Given the description of an element on the screen output the (x, y) to click on. 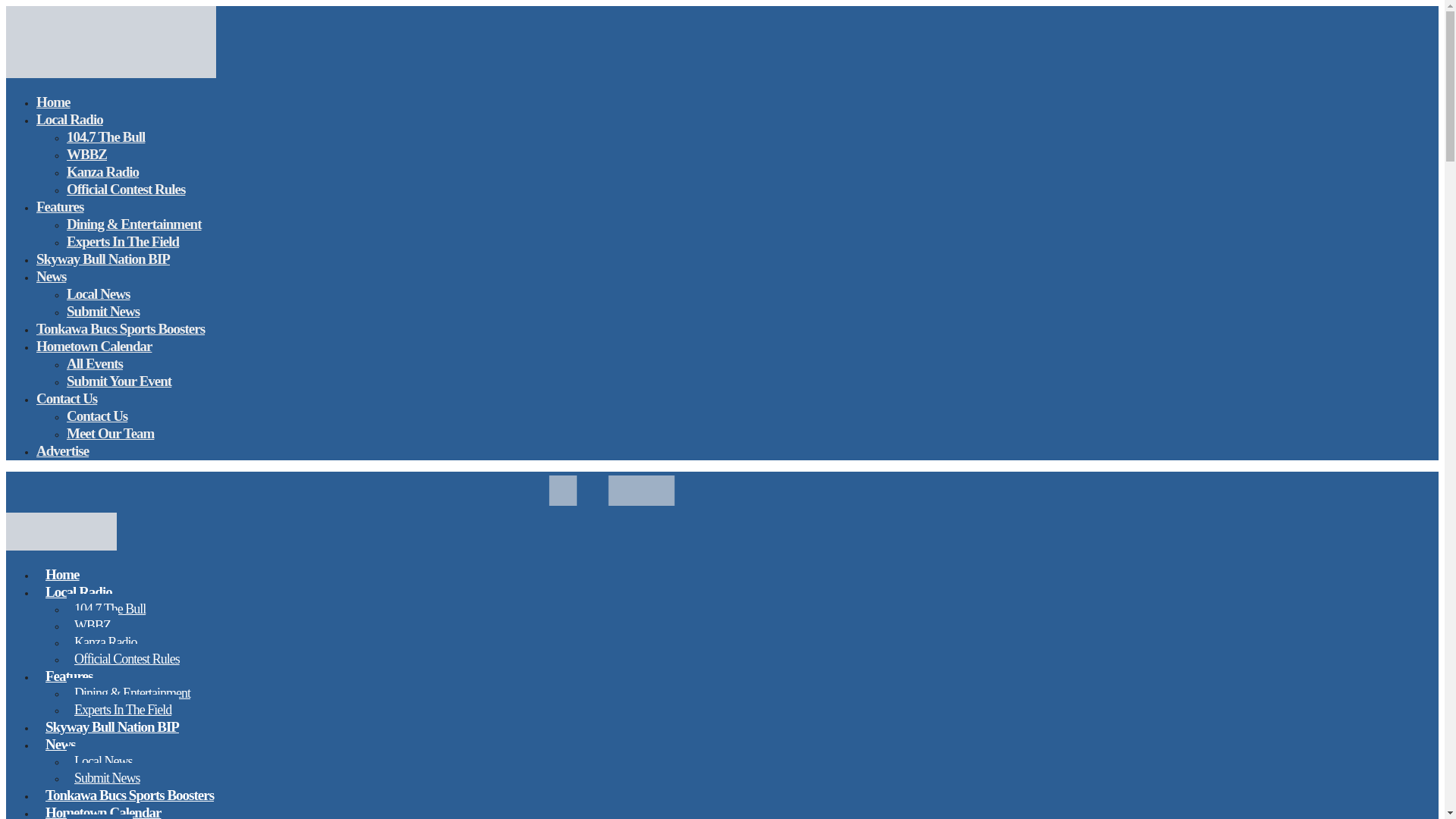
My Hometown Post (60, 545)
Features (68, 675)
Home (62, 574)
Local News (97, 293)
Submit Your Event (118, 381)
All Events (94, 363)
Official Contest Rules (125, 188)
Skyway Bull Nation BIP (111, 726)
Official Contest Rules (126, 658)
WBBZ (86, 154)
Features (59, 206)
My Hometown Post (110, 73)
Contact Us (97, 415)
Tonkawa Bucs Sports Boosters (129, 794)
Advertise (62, 450)
